Given the description of an element on the screen output the (x, y) to click on. 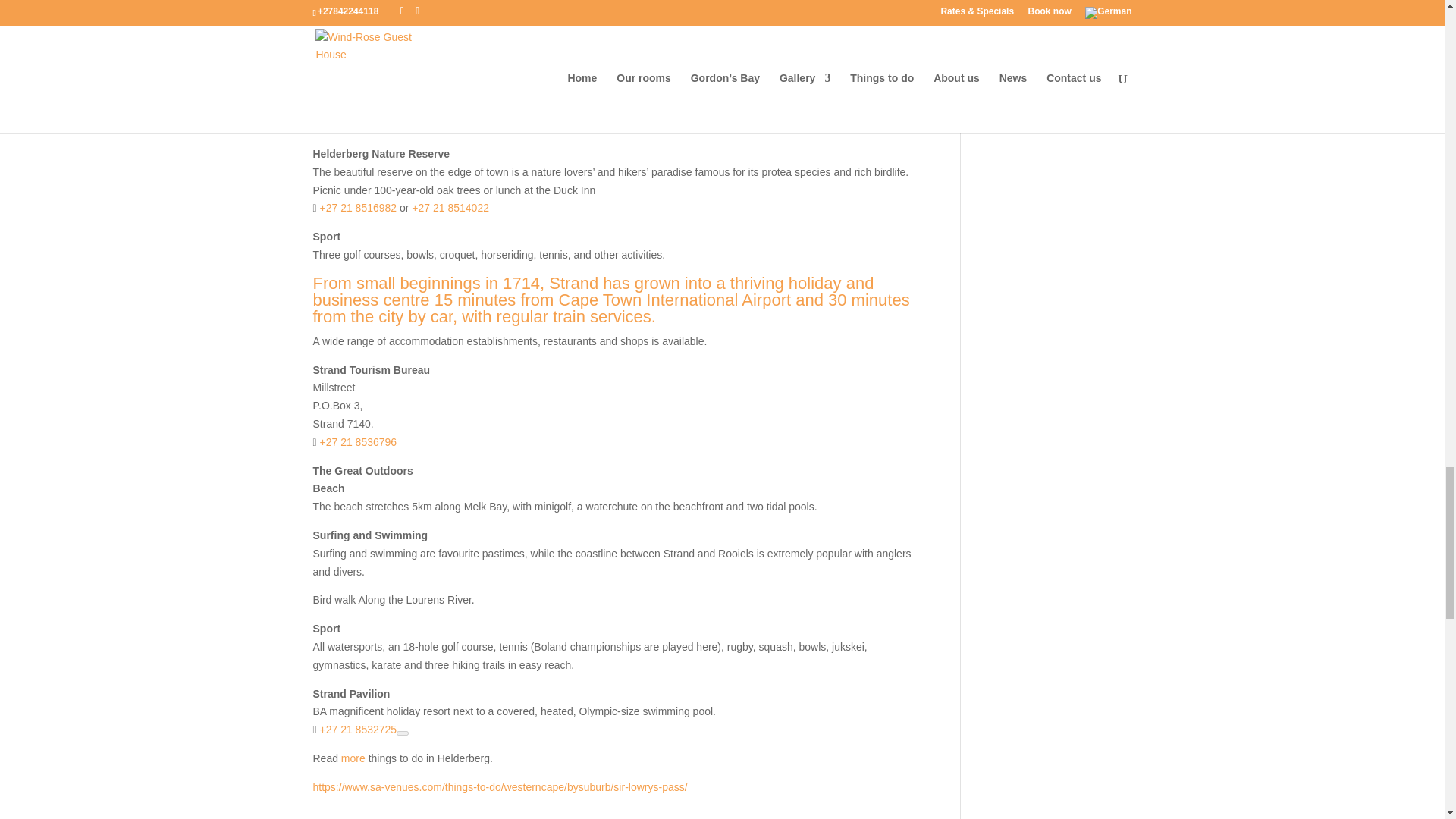
Things to do in Overberg (352, 758)
